Given the description of an element on the screen output the (x, y) to click on. 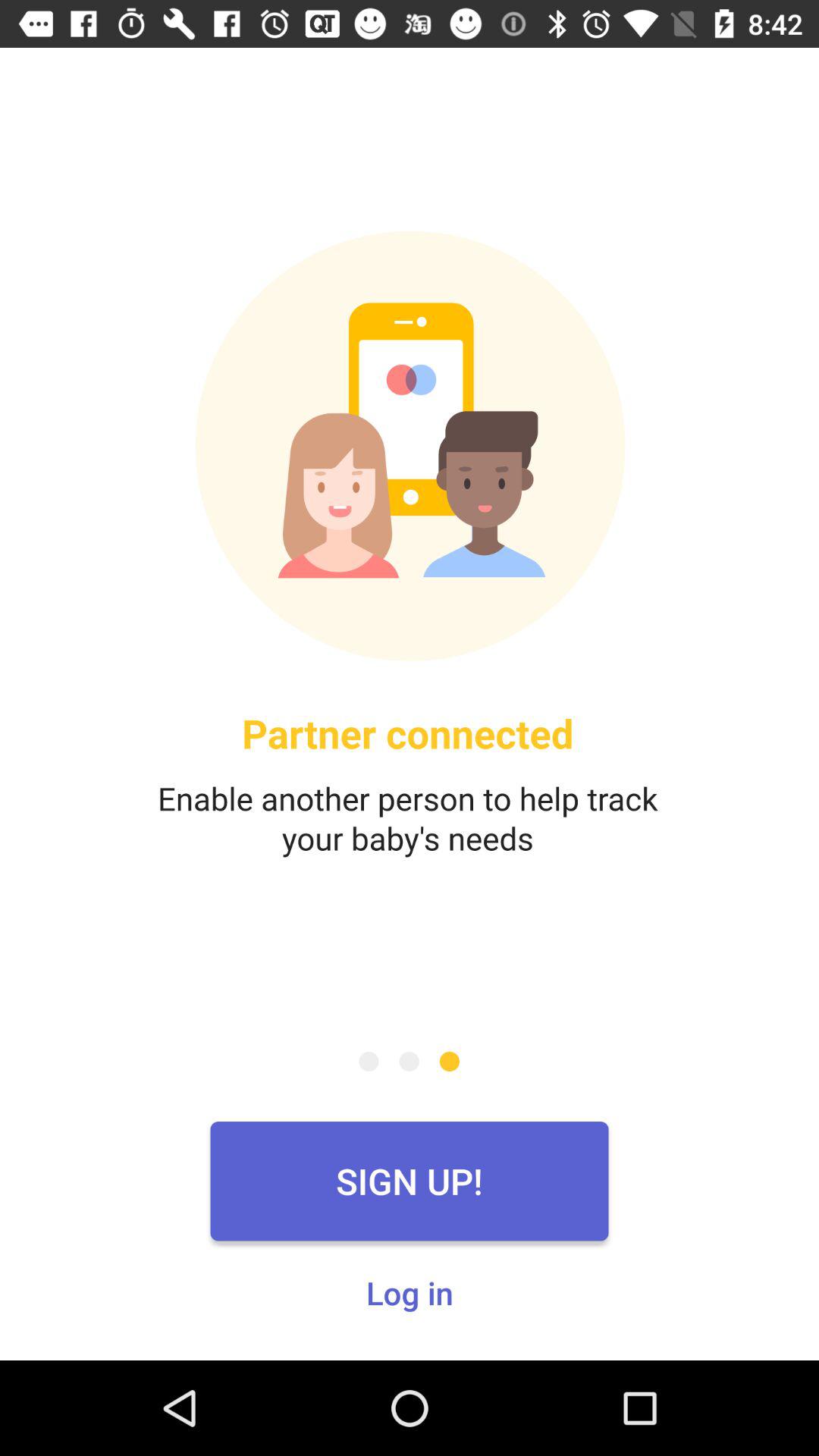
flip until the log in icon (409, 1292)
